Given the description of an element on the screen output the (x, y) to click on. 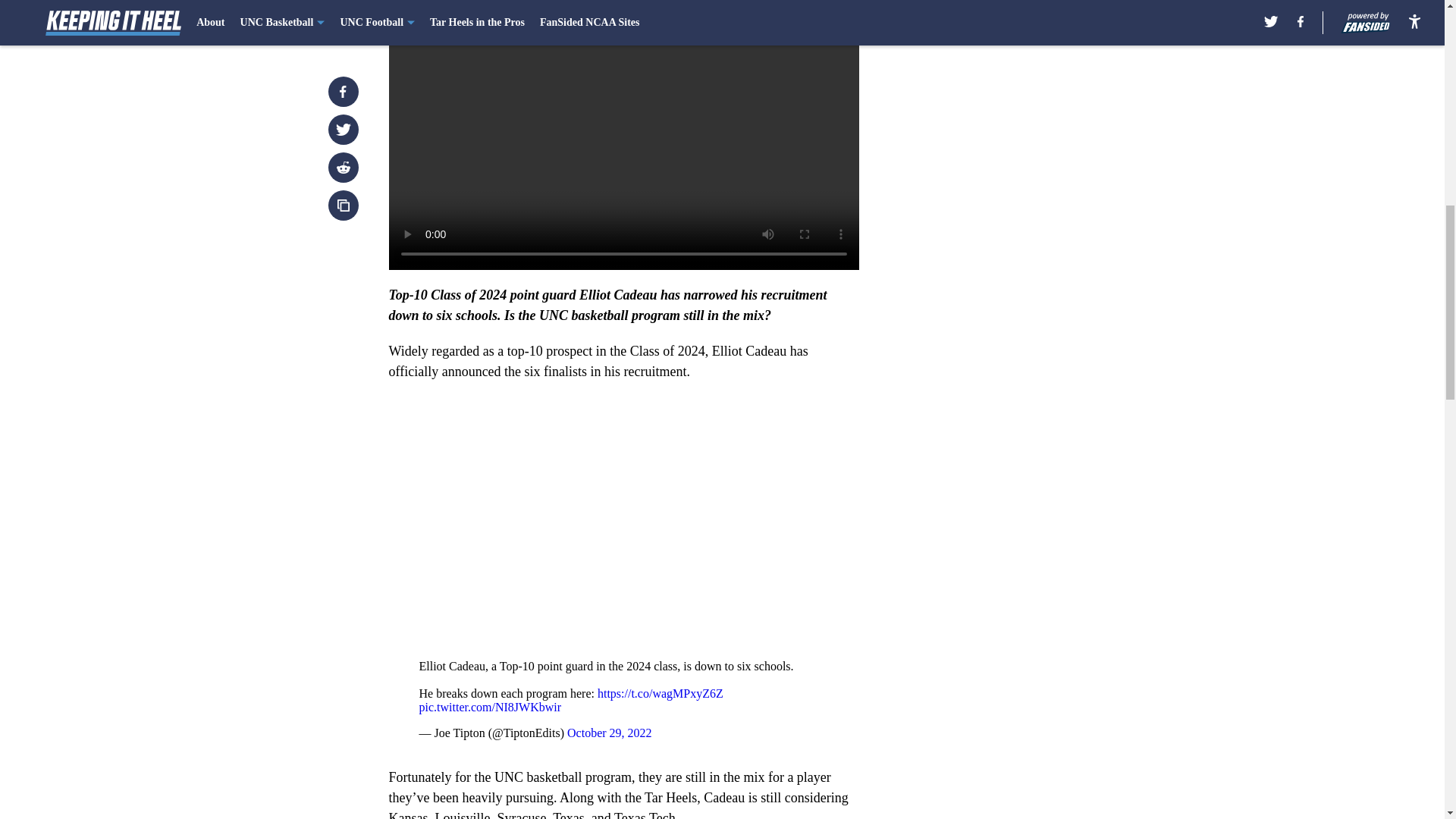
3rd party ad content (1047, 100)
3rd party ad content (1047, 320)
October 29, 2022 (609, 732)
